Given the description of an element on the screen output the (x, y) to click on. 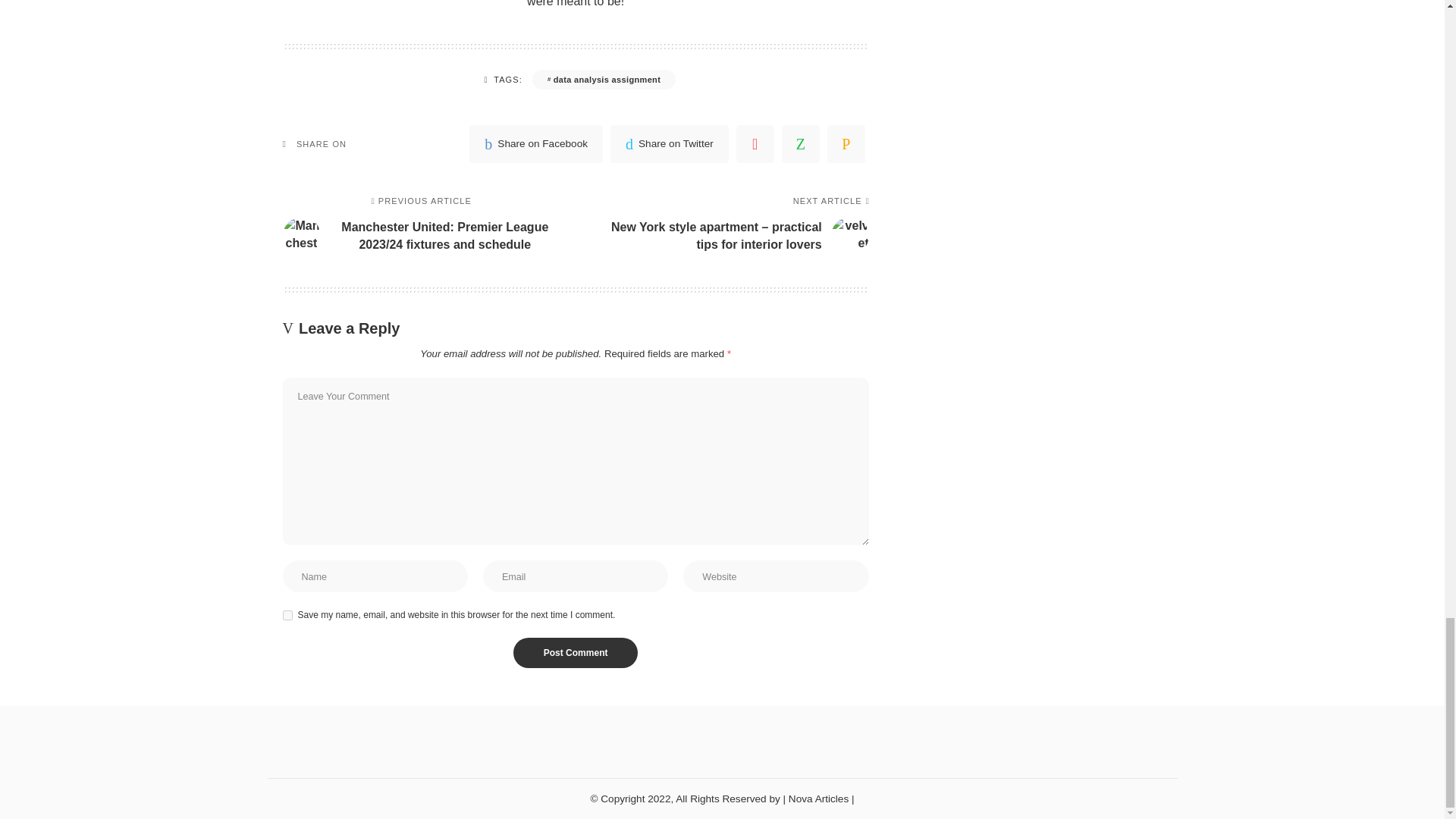
Post Comment (576, 653)
yes (287, 614)
